Given the description of an element on the screen output the (x, y) to click on. 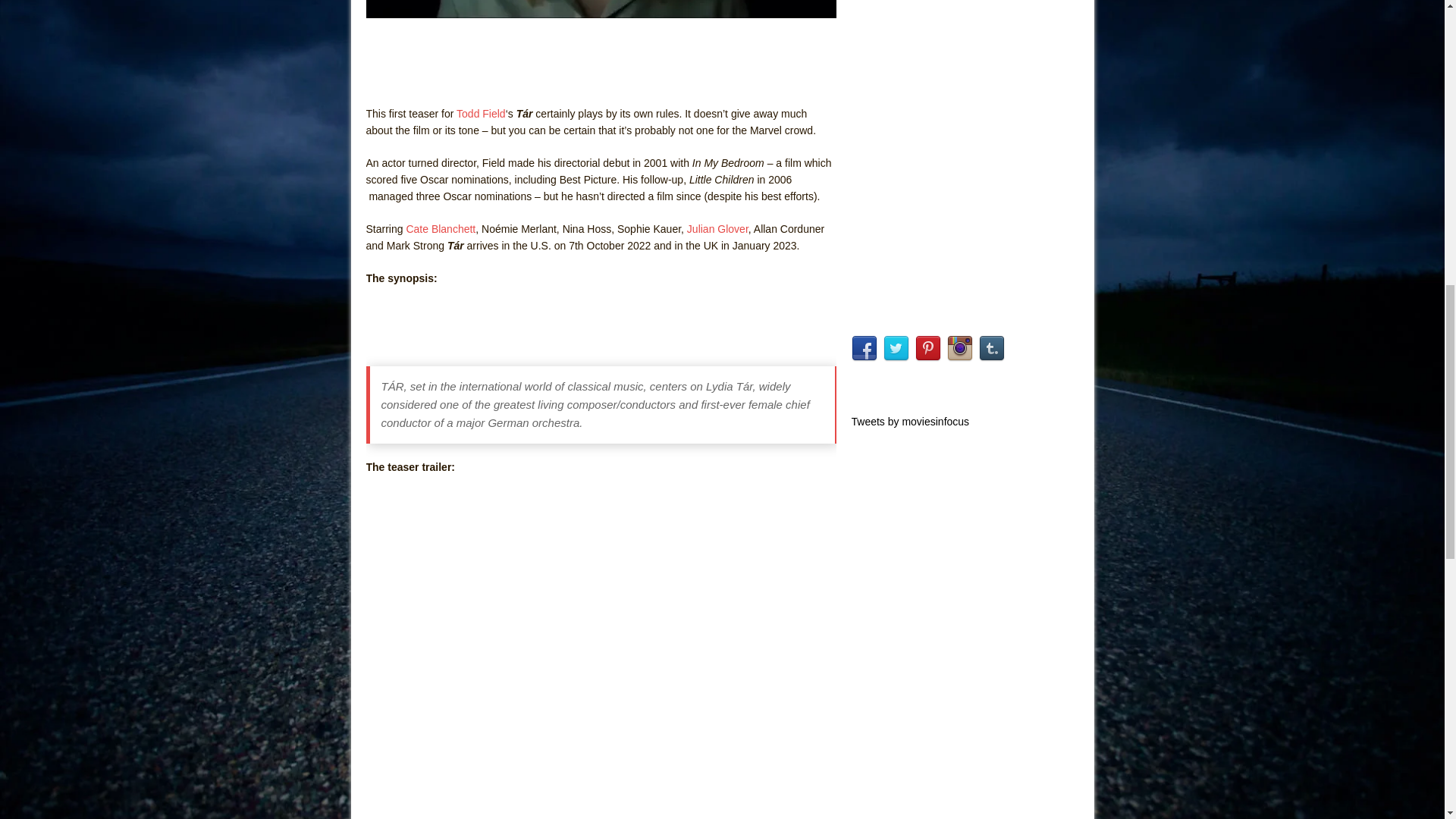
Julian Glover (717, 228)
Cate Blanchett (441, 228)
Todd Field (481, 113)
